Given the description of an element on the screen output the (x, y) to click on. 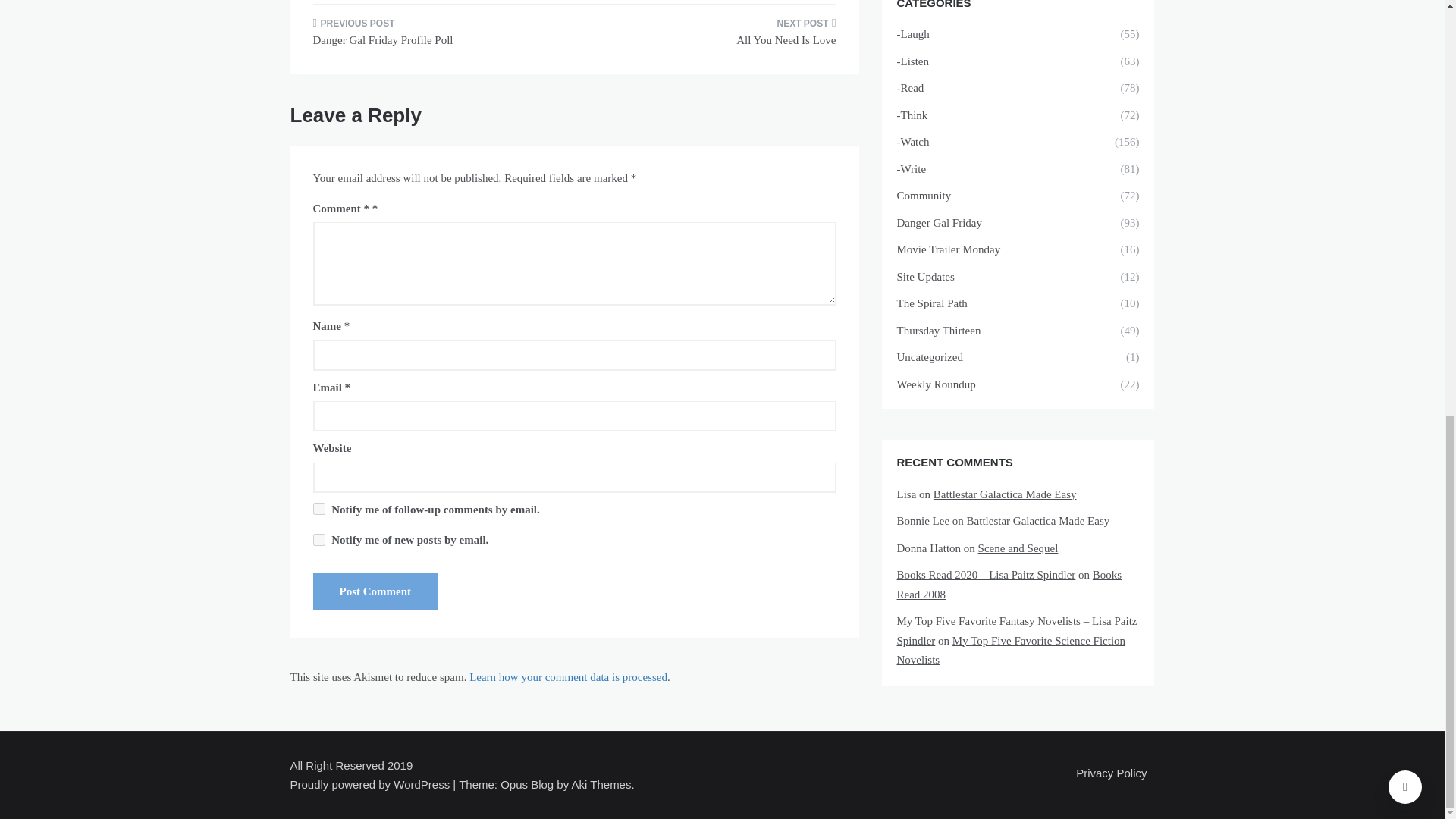
Post Comment (375, 591)
subscribe (318, 539)
Post Comment (375, 591)
All You Need Is Love (710, 36)
Danger Gal Friday Profile Poll (437, 36)
Learn how your comment data is processed (567, 676)
subscribe (318, 508)
-Laugh (972, 35)
